Given the description of an element on the screen output the (x, y) to click on. 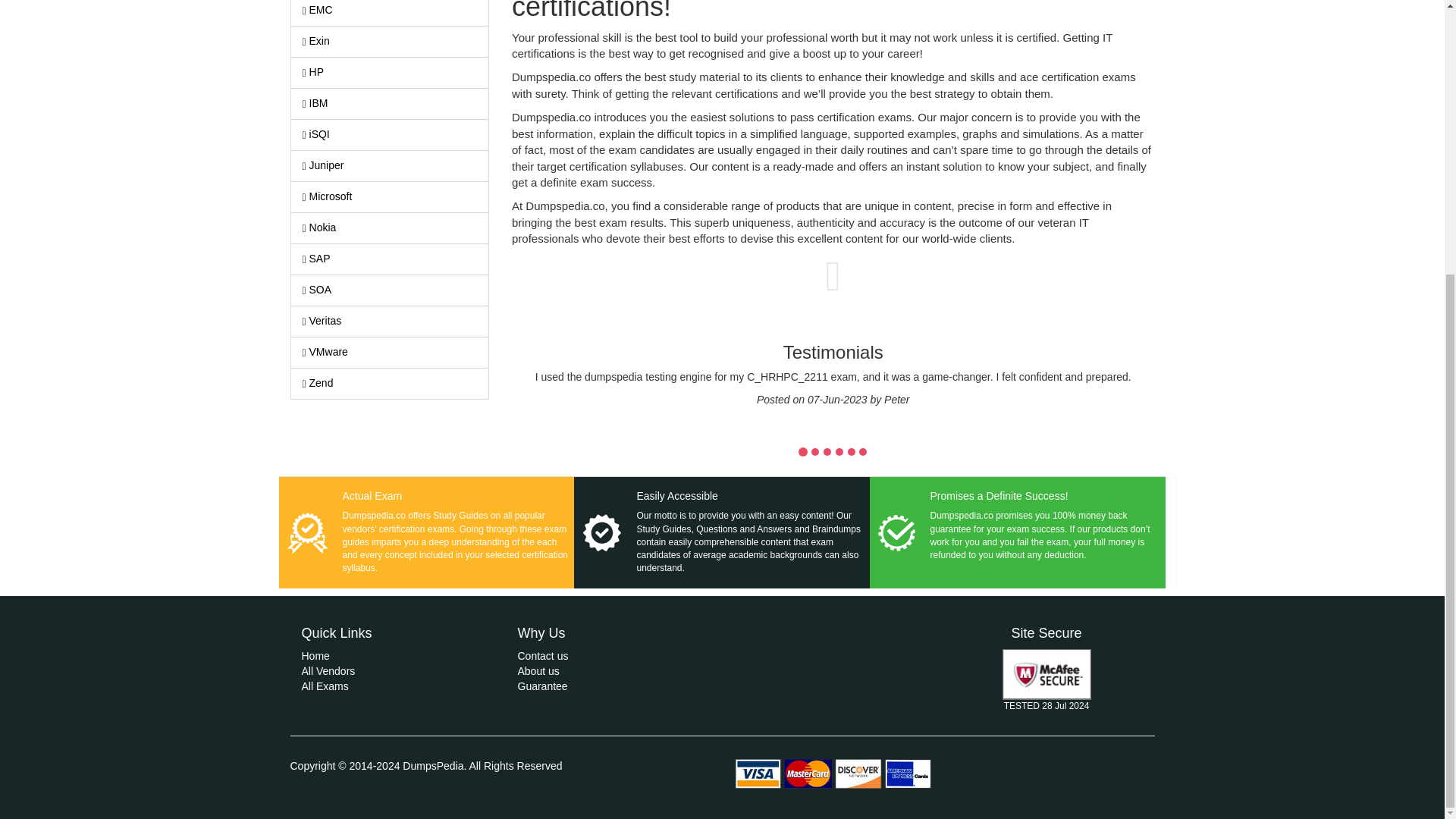
iSQI (390, 134)
Nokia (390, 227)
Zend (390, 383)
Microsoft (390, 196)
SOA (390, 290)
VMware (390, 352)
SOA (390, 290)
HP (390, 72)
Juniper (390, 165)
Veritas (390, 321)
Juniper (390, 165)
VMware (390, 352)
IBM (390, 103)
EMC (390, 12)
Zend (390, 383)
